Given the description of an element on the screen output the (x, y) to click on. 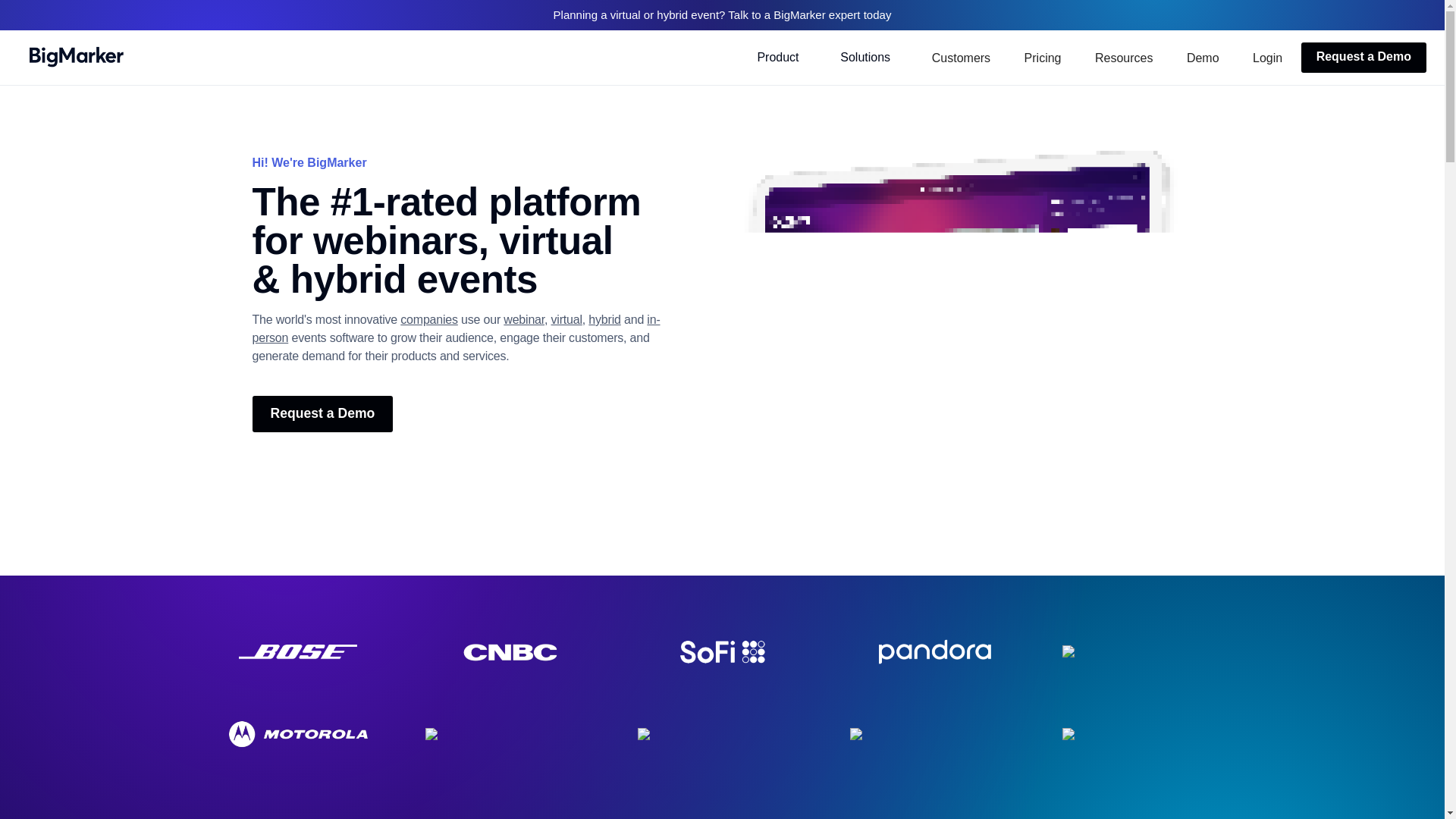
Demo (1203, 56)
Pricing (1043, 56)
Customers (961, 56)
hybrid (604, 318)
webinar (523, 318)
virtual (566, 318)
Request a Demo (322, 413)
Request a Demo (1363, 57)
companies (429, 318)
Resources (1123, 56)
in-person (455, 327)
Login (1267, 56)
